Given the description of an element on the screen output the (x, y) to click on. 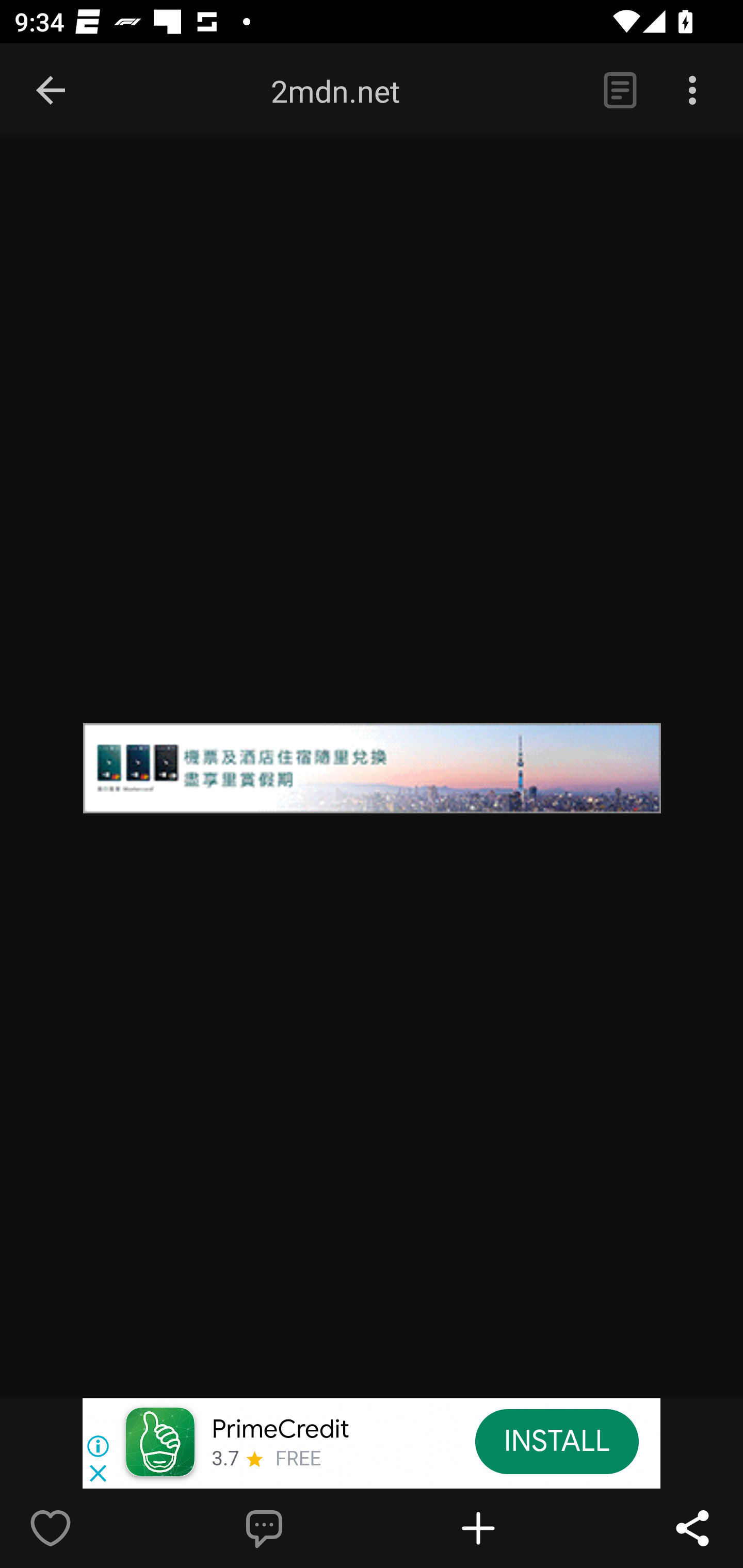
Back (50, 90)
Reader View (619, 90)
Options (692, 90)
INSTALL (556, 1441)
PrimeCredit (279, 1429)
Like (93, 1528)
Write a comment… (307, 1528)
Flip into Magazine (521, 1528)
Share (692, 1528)
